Given the description of an element on the screen output the (x, y) to click on. 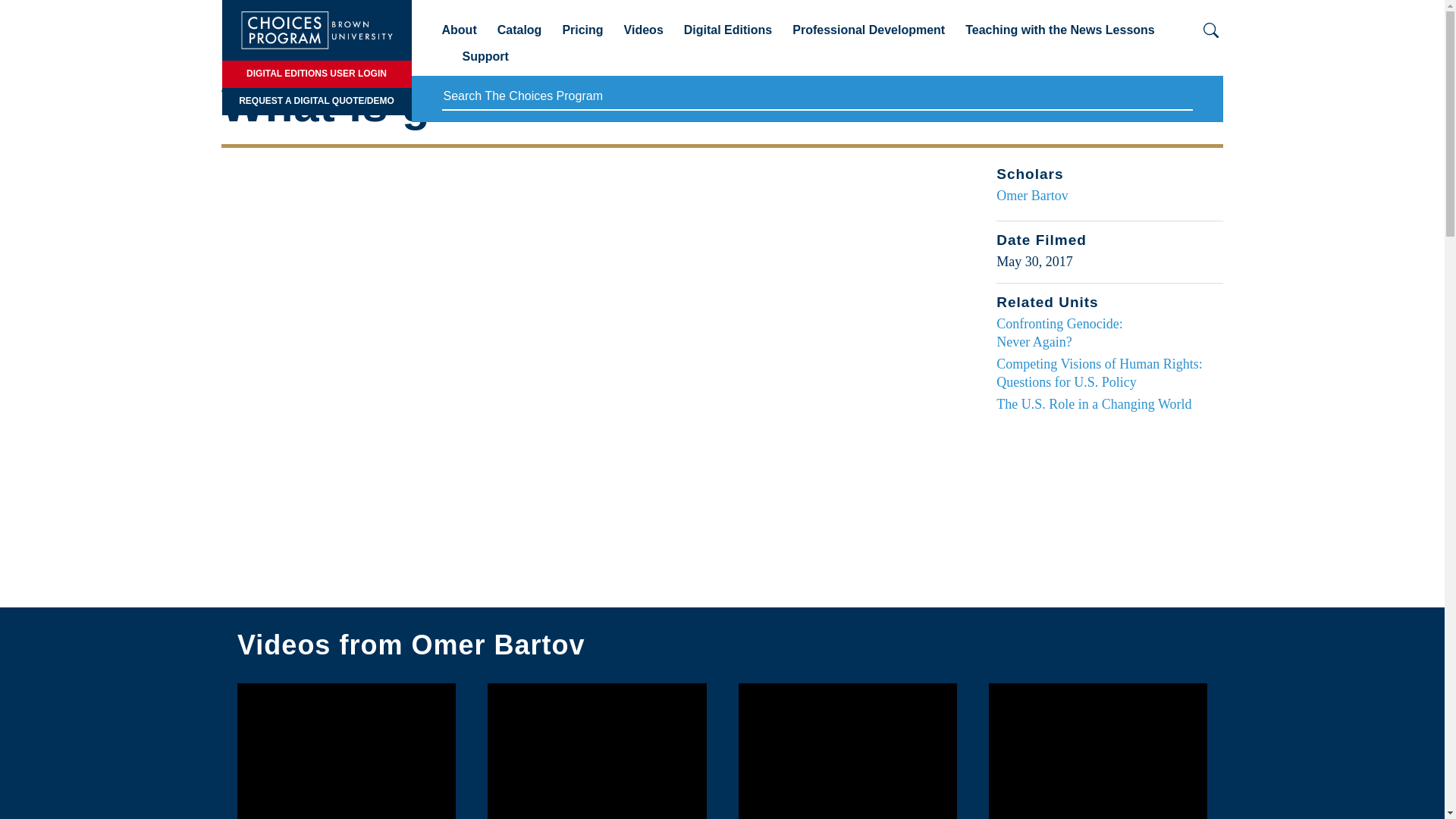
search here (816, 96)
Pricing (582, 35)
Catalog (519, 35)
DIGITAL EDITIONS USER LOGIN (315, 73)
Digital Editions (727, 35)
About (458, 35)
Videos (643, 35)
